Given the description of an element on the screen output the (x, y) to click on. 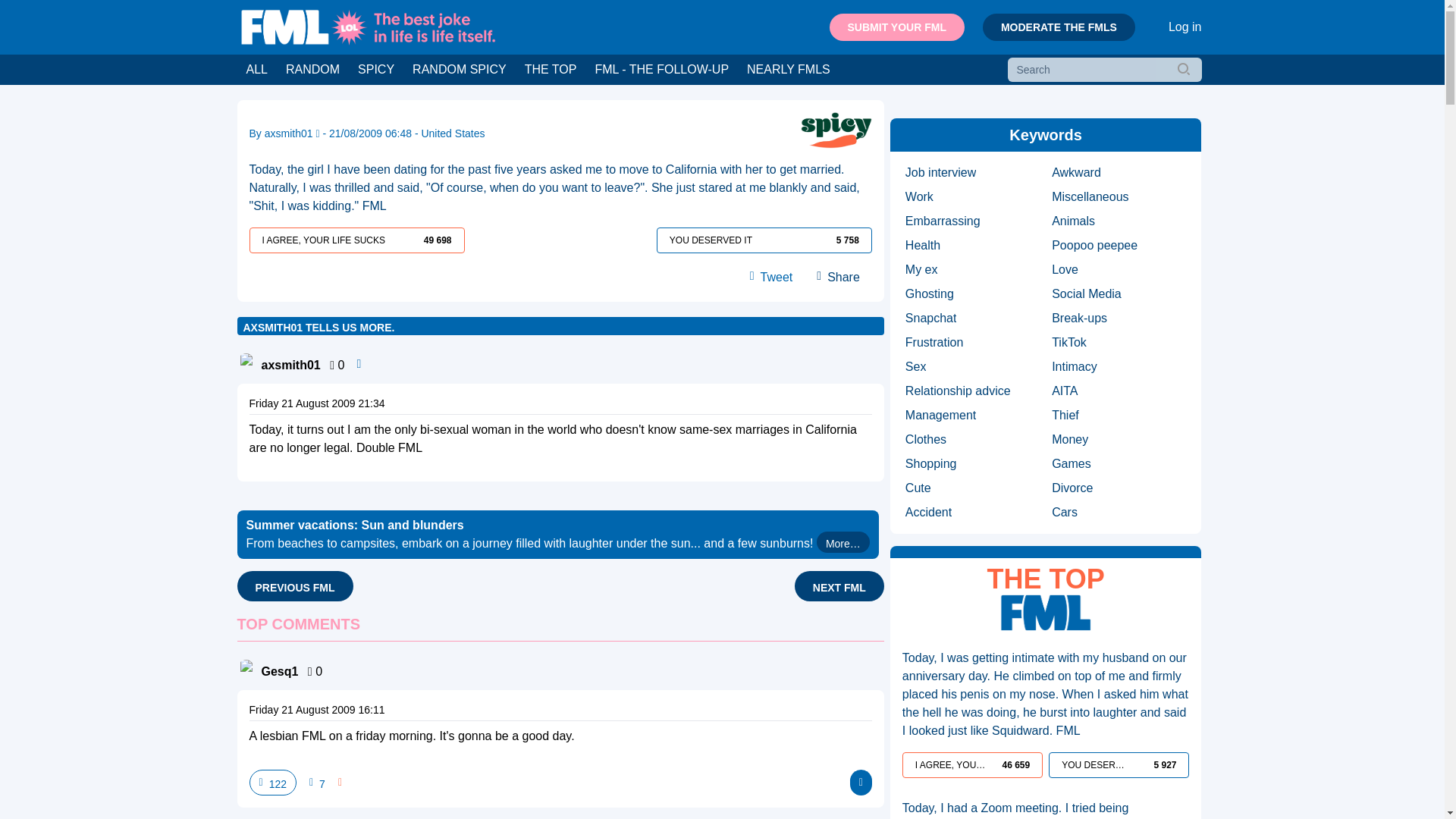
Log in (1185, 26)
Summer vacations: Sun and blunders (556, 534)
Friday 21 August 2009 16:11 (316, 709)
SUBMIT YOUR FML (896, 26)
MODERATE THE FMLS (1058, 26)
RANDOM SPICY (459, 69)
ALL (255, 69)
7 (316, 782)
Tweet (773, 277)
